Given the description of an element on the screen output the (x, y) to click on. 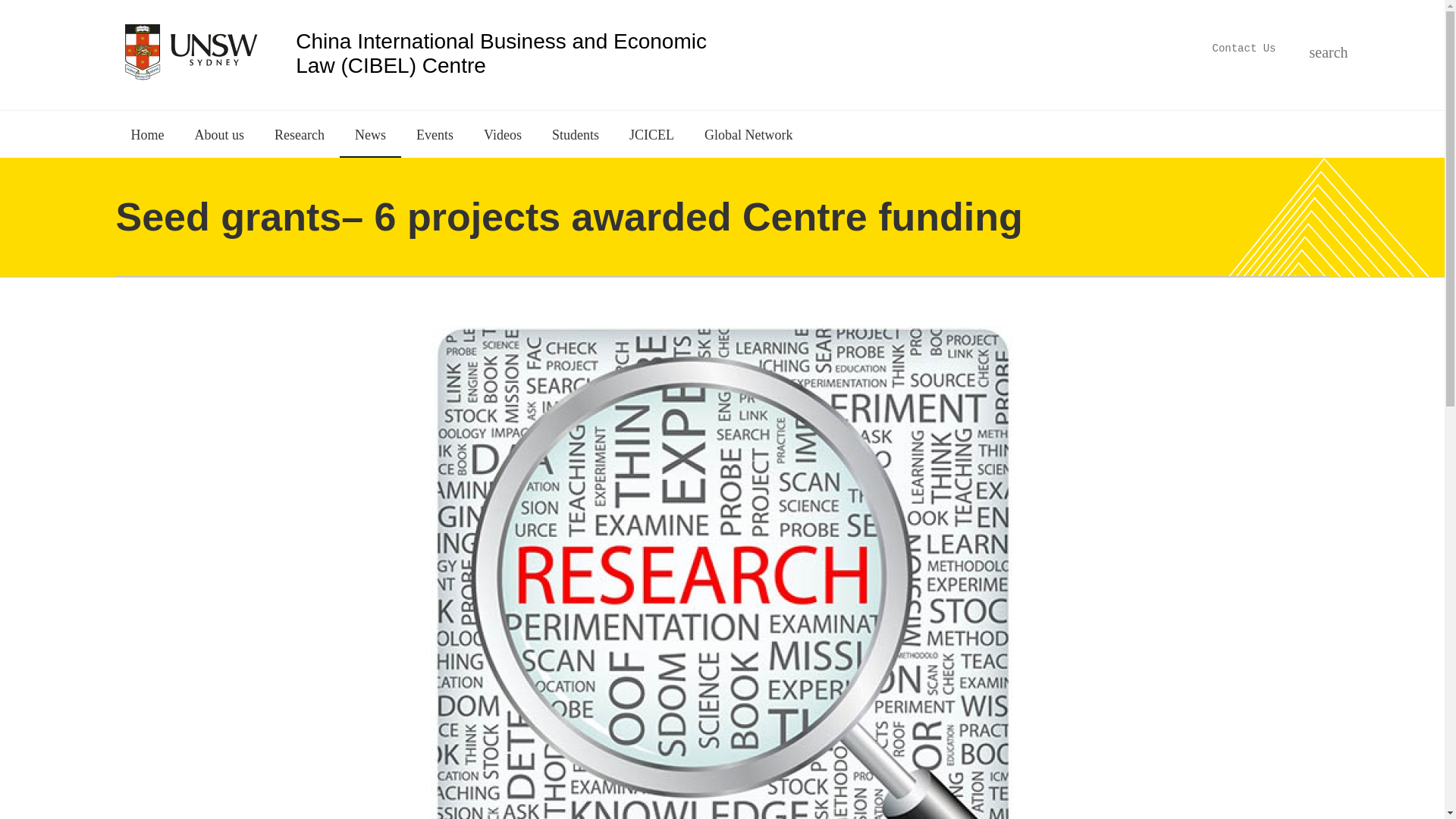
search (1315, 49)
Contact Us (1243, 48)
Home (513, 52)
News (370, 133)
UNSW (189, 50)
Students (575, 134)
About us (219, 134)
Videos (502, 134)
Research (299, 134)
JCICEL (651, 134)
Global Network (748, 134)
Skip (757, 52)
Events (434, 134)
Home (147, 134)
